Given the description of an element on the screen output the (x, y) to click on. 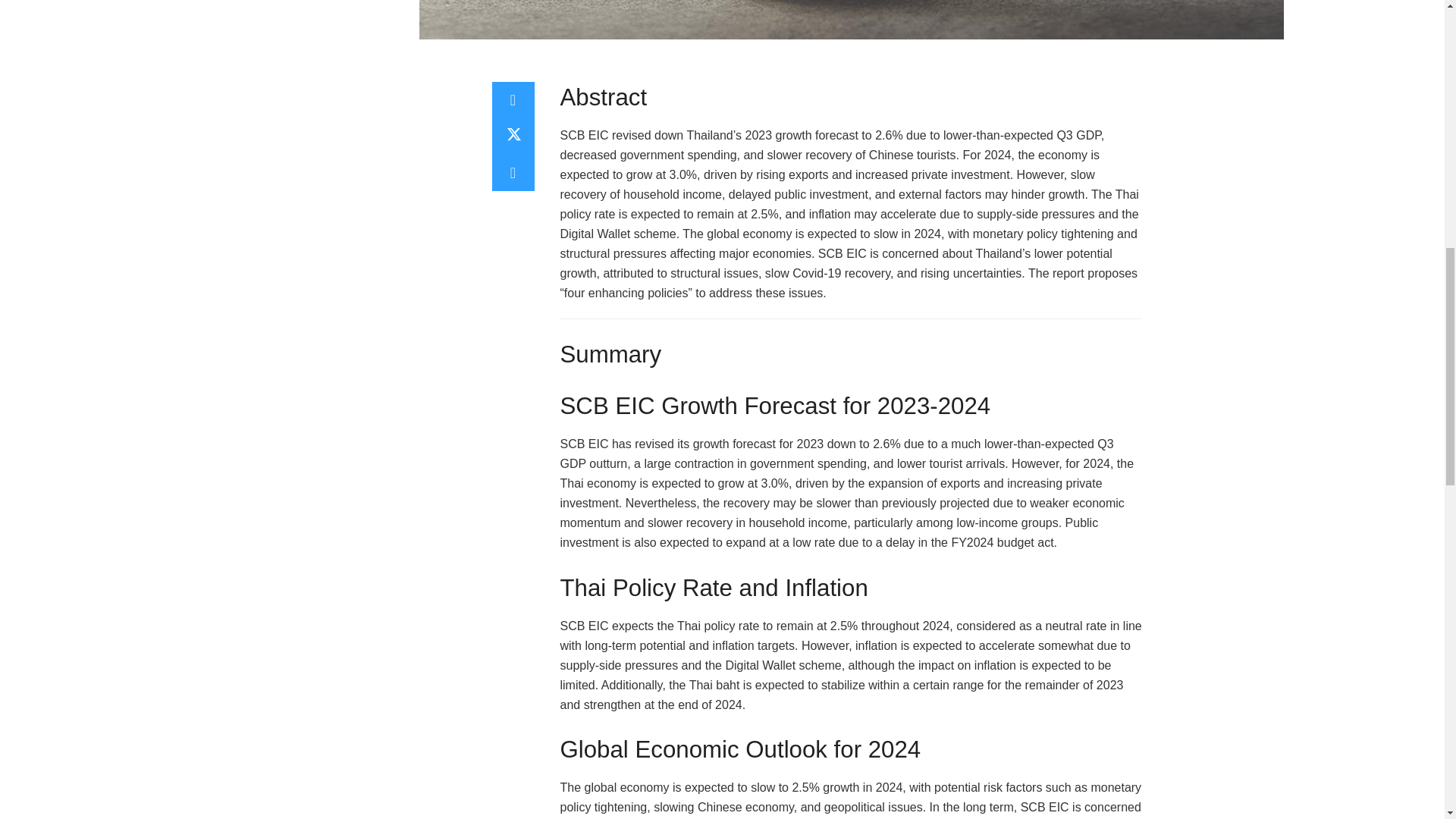
LOAD MORE (128, 4)
